Given the description of an element on the screen output the (x, y) to click on. 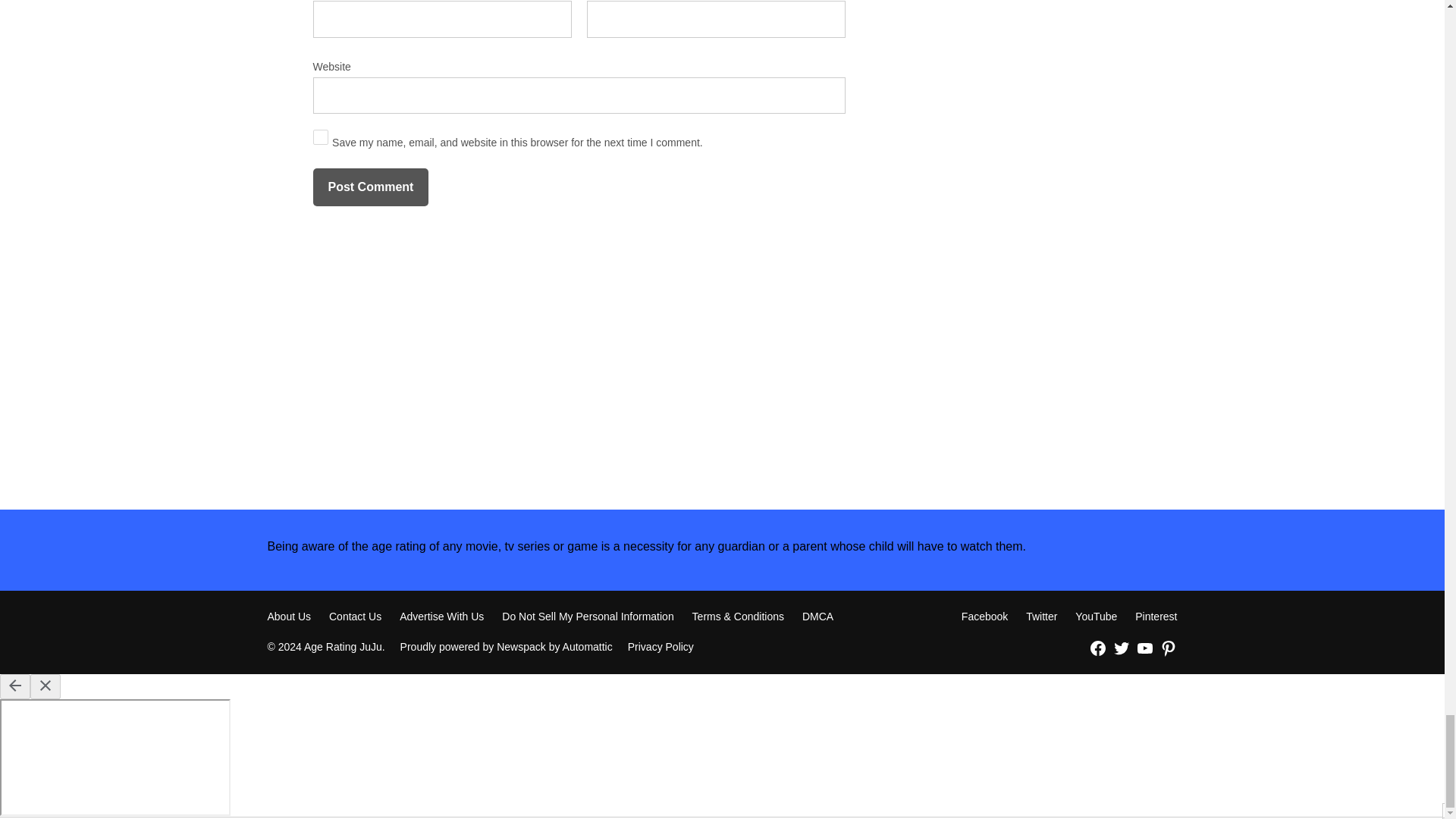
yes (320, 136)
Post Comment (370, 187)
